Given the description of an element on the screen output the (x, y) to click on. 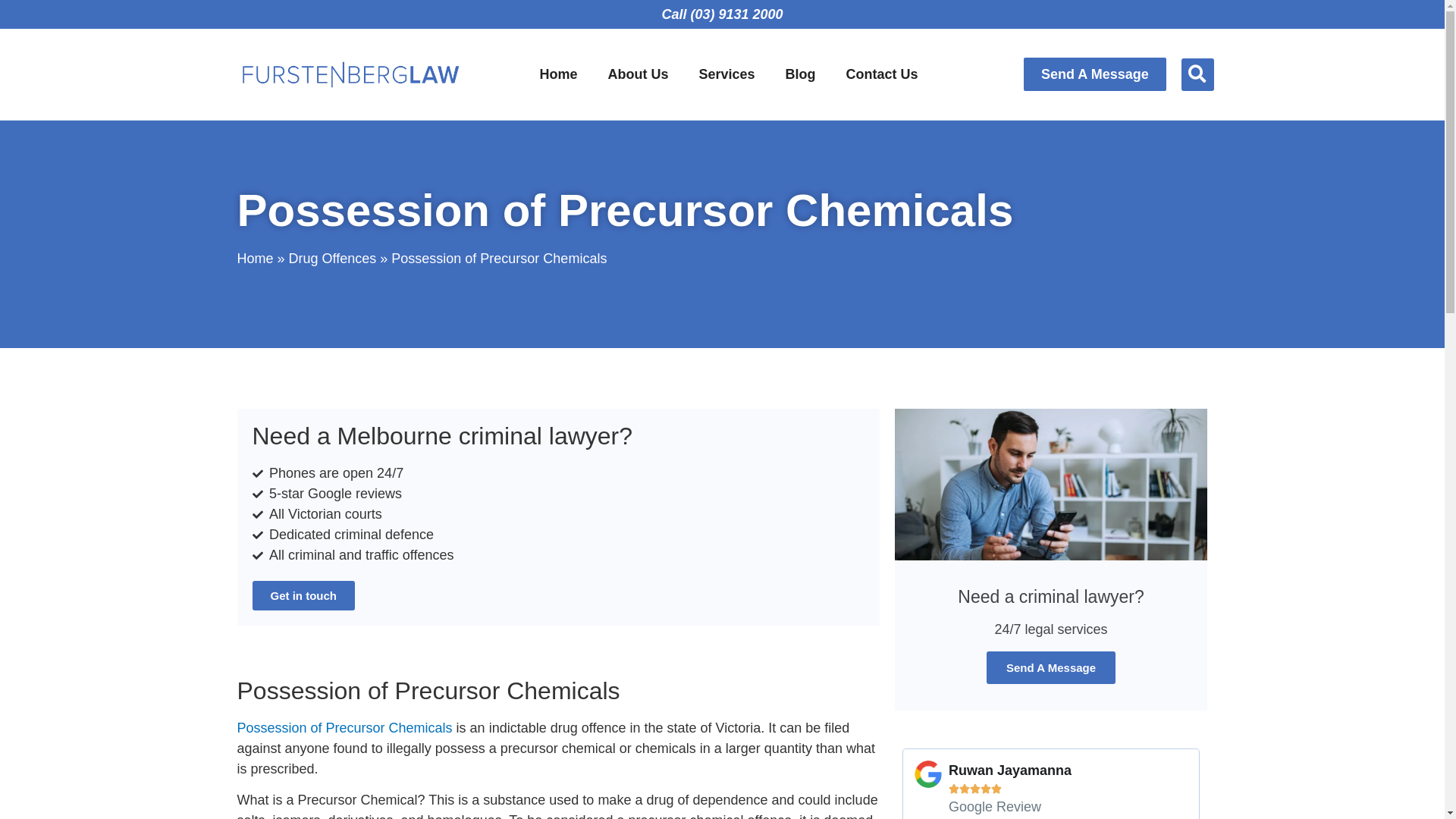
Get in touch Element type: text (302, 595)
Services Element type: text (727, 73)
Drug Offences Element type: text (332, 258)
Call (03) 9131 2000 Element type: text (721, 13)
About Us Element type: text (638, 73)
Possession of Precursor Chemicals Element type: text (343, 727)
Need a criminal lawyer?
24/7 legal services
Send A Message Element type: text (1051, 559)
Home Element type: text (558, 73)
Home Element type: text (254, 258)
Blog Element type: text (800, 73)
Send A Message Element type: text (1094, 74)
Contact Us Element type: text (882, 73)
